Given the description of an element on the screen output the (x, y) to click on. 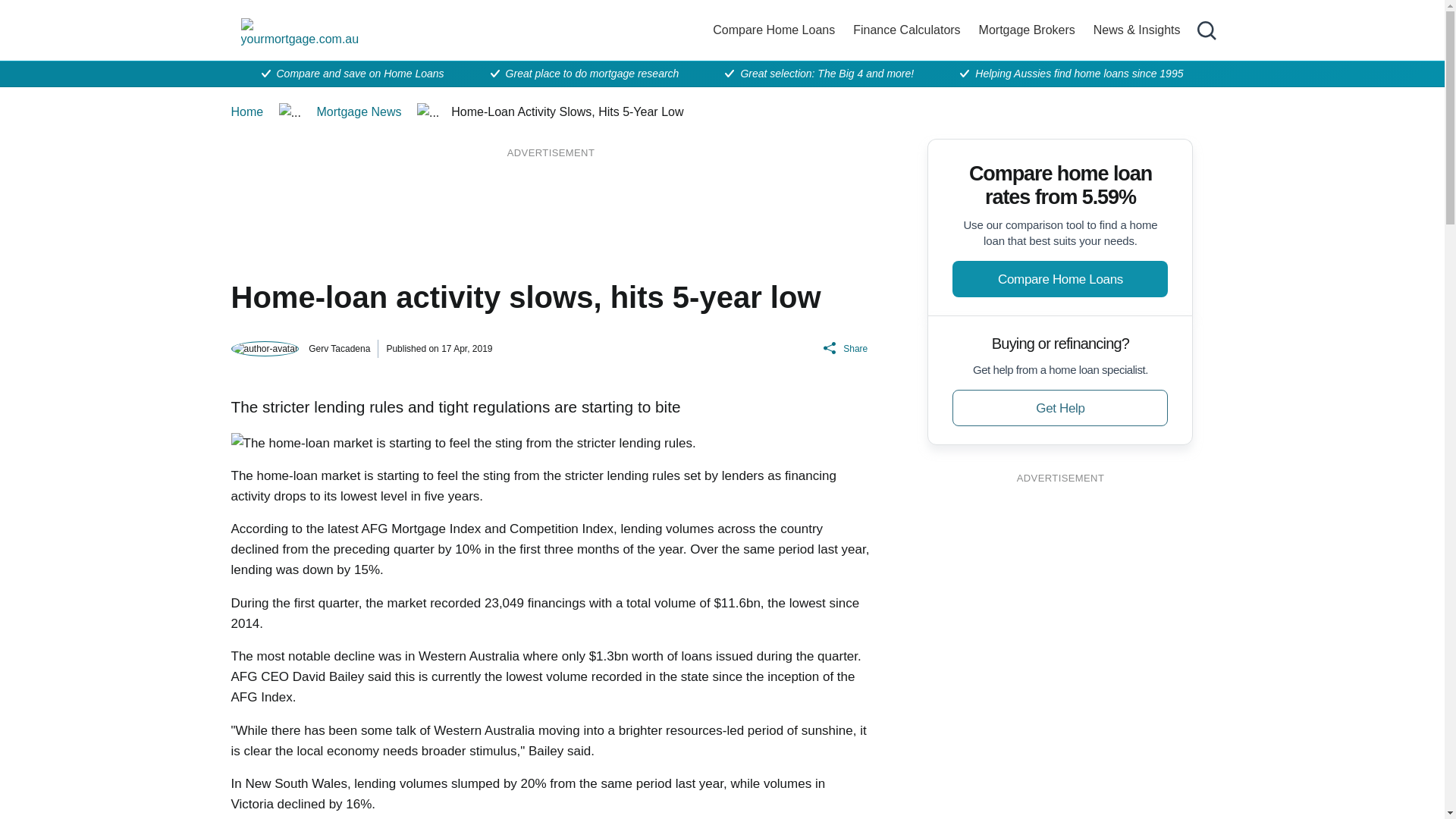
Posts by Gerv Tacadena (338, 348)
